Given the description of an element on the screen output the (x, y) to click on. 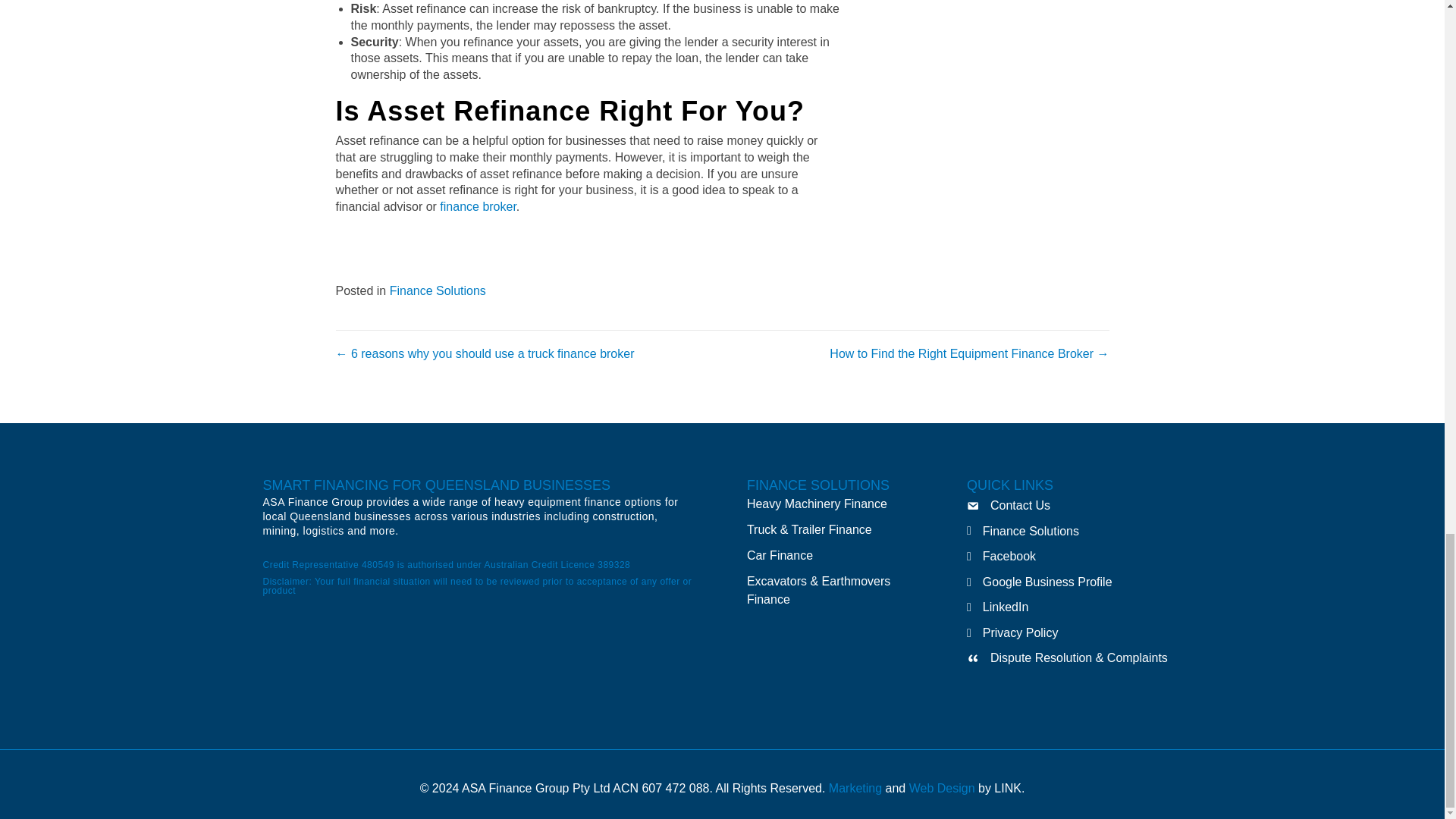
finance broker (477, 205)
FINANCE SOLUTIONS (817, 485)
